Given the description of an element on the screen output the (x, y) to click on. 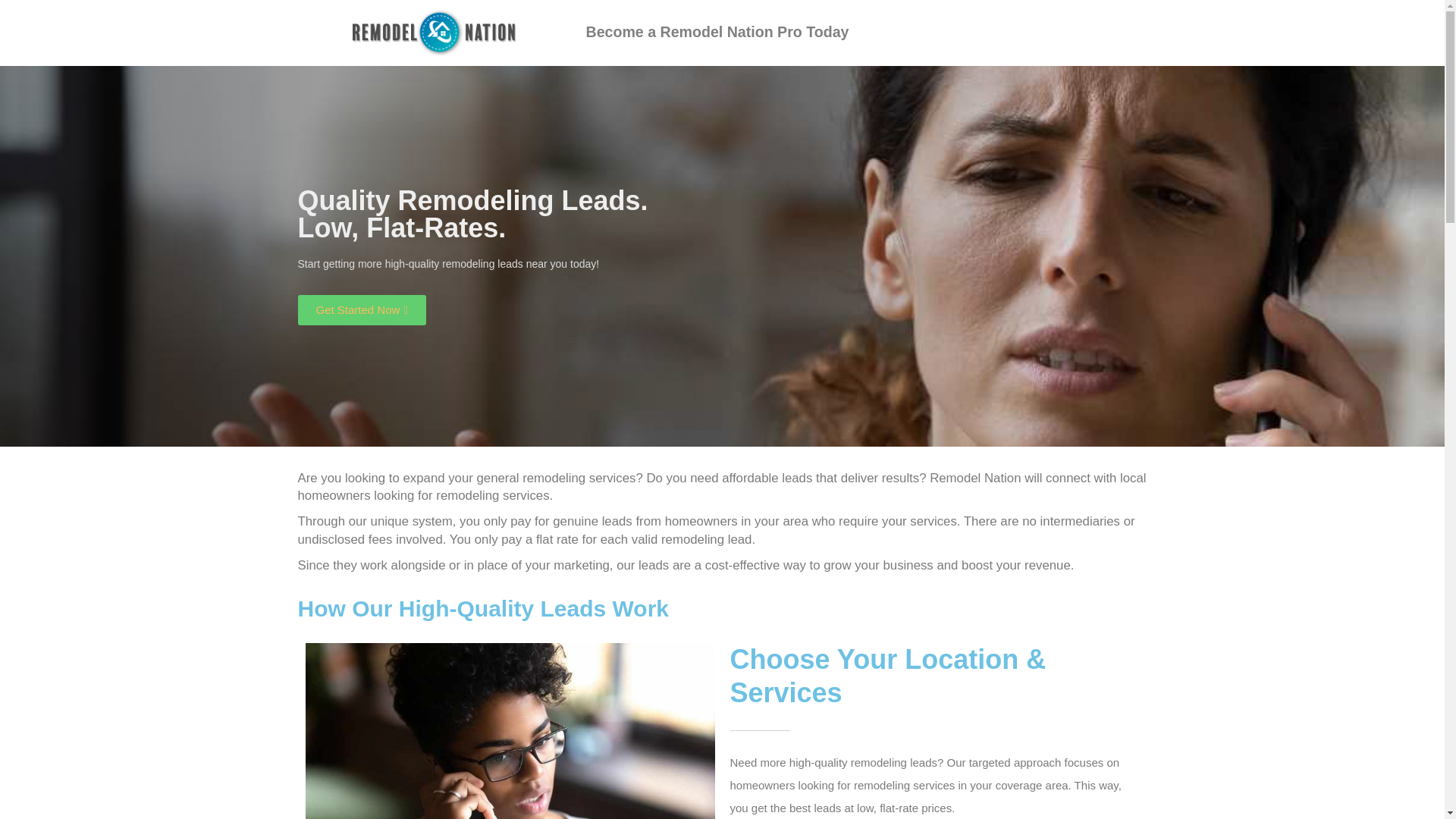
Get Started Now (361, 309)
